Given the description of an element on the screen output the (x, y) to click on. 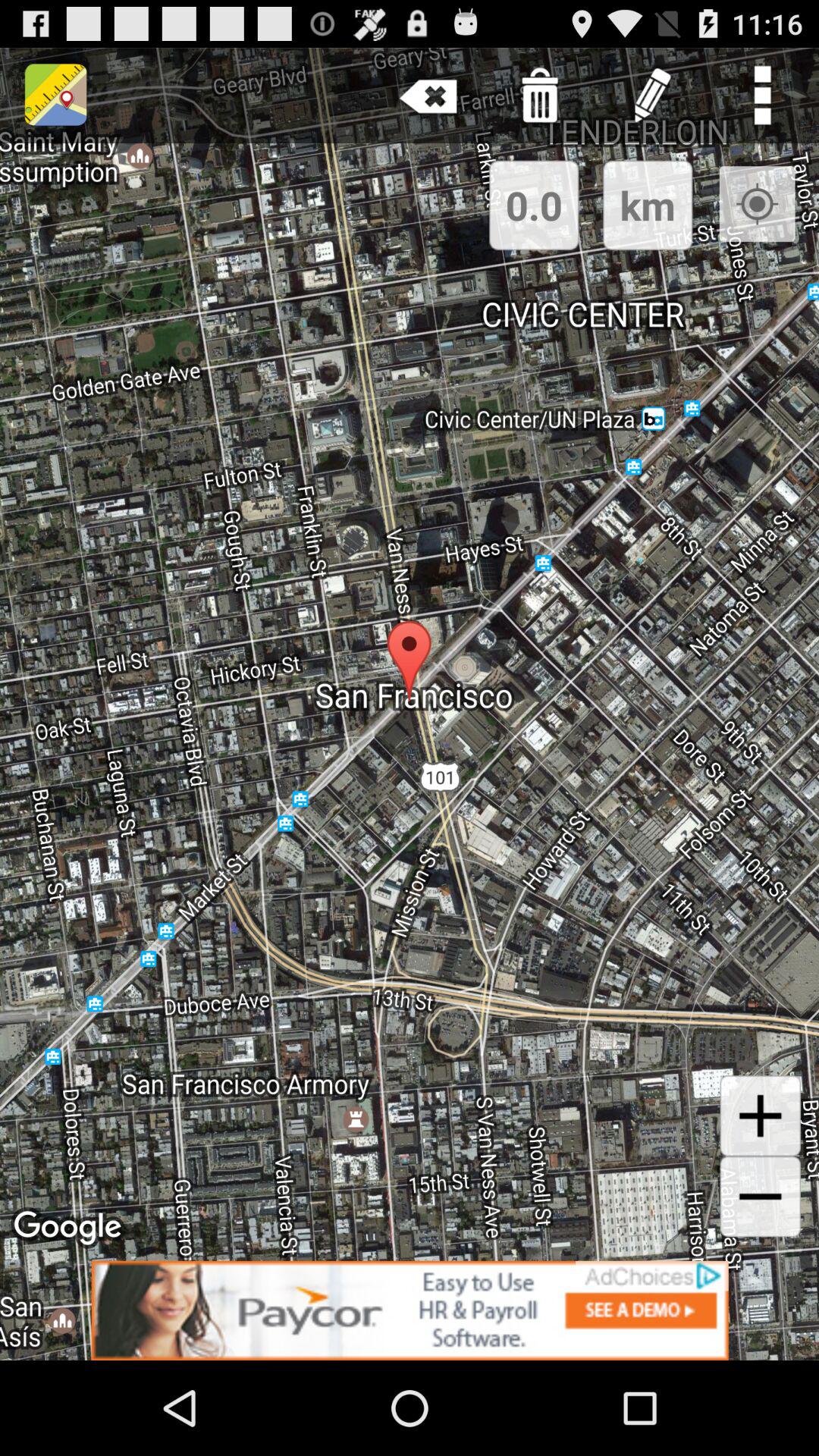
opens advertisement (409, 1310)
